Given the description of an element on the screen output the (x, y) to click on. 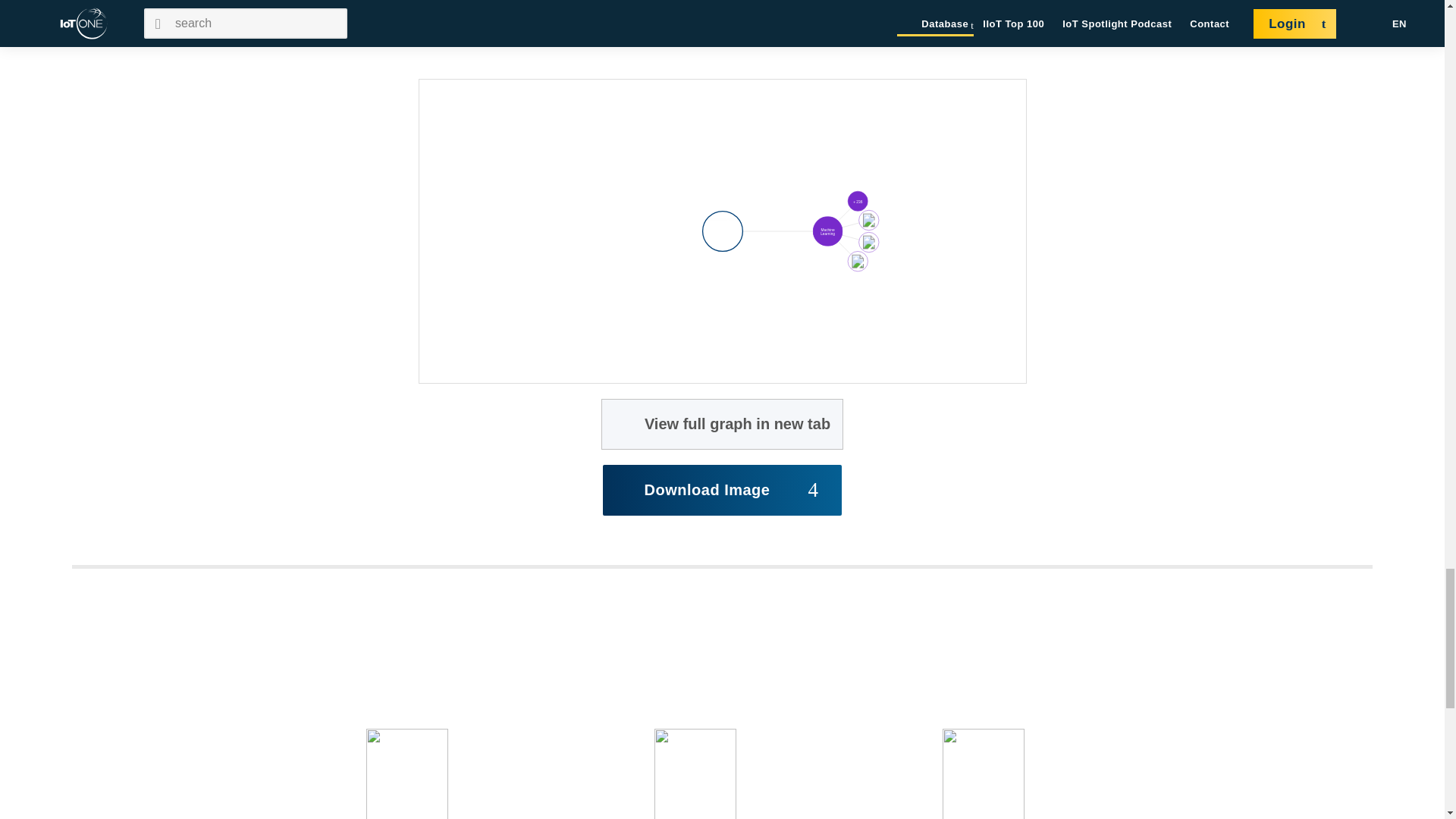
Microsoft (857, 201)
ONPASSIVELLC (722, 230)
General Electric (857, 261)
Amazon Web Services (868, 220)
Philips (868, 241)
View full graph in new tab (722, 423)
